Given the description of an element on the screen output the (x, y) to click on. 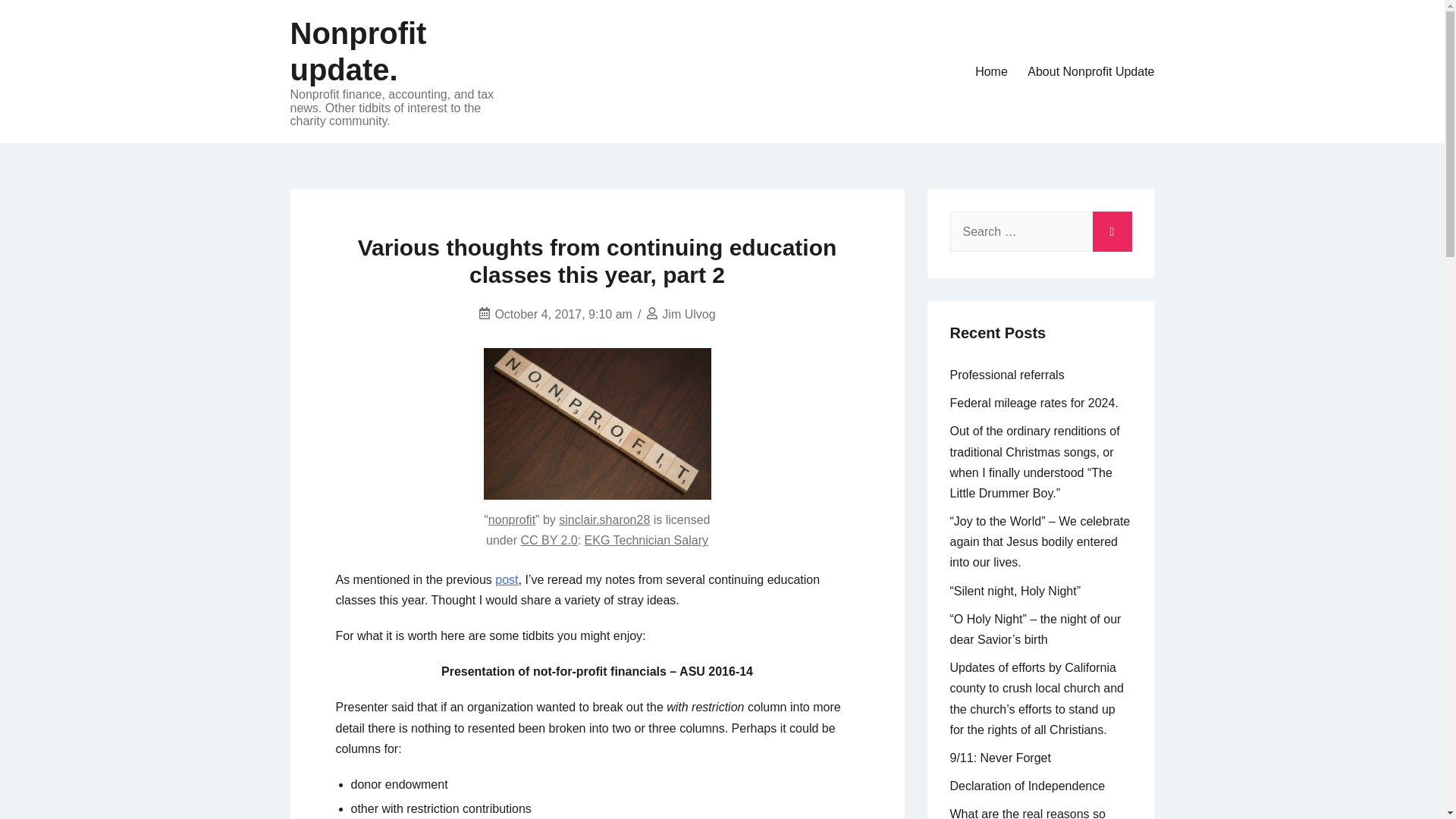
EKG Technician Salary (646, 540)
nonprofit (511, 519)
Federal mileage rates for 2024. (1033, 402)
sinclair.sharon28 (604, 519)
Declaration of Independence (1027, 785)
About Nonprofit Update (1090, 71)
post (506, 579)
Nonprofit update. (357, 51)
Search (1111, 227)
Search (1111, 227)
